Given the description of an element on the screen output the (x, y) to click on. 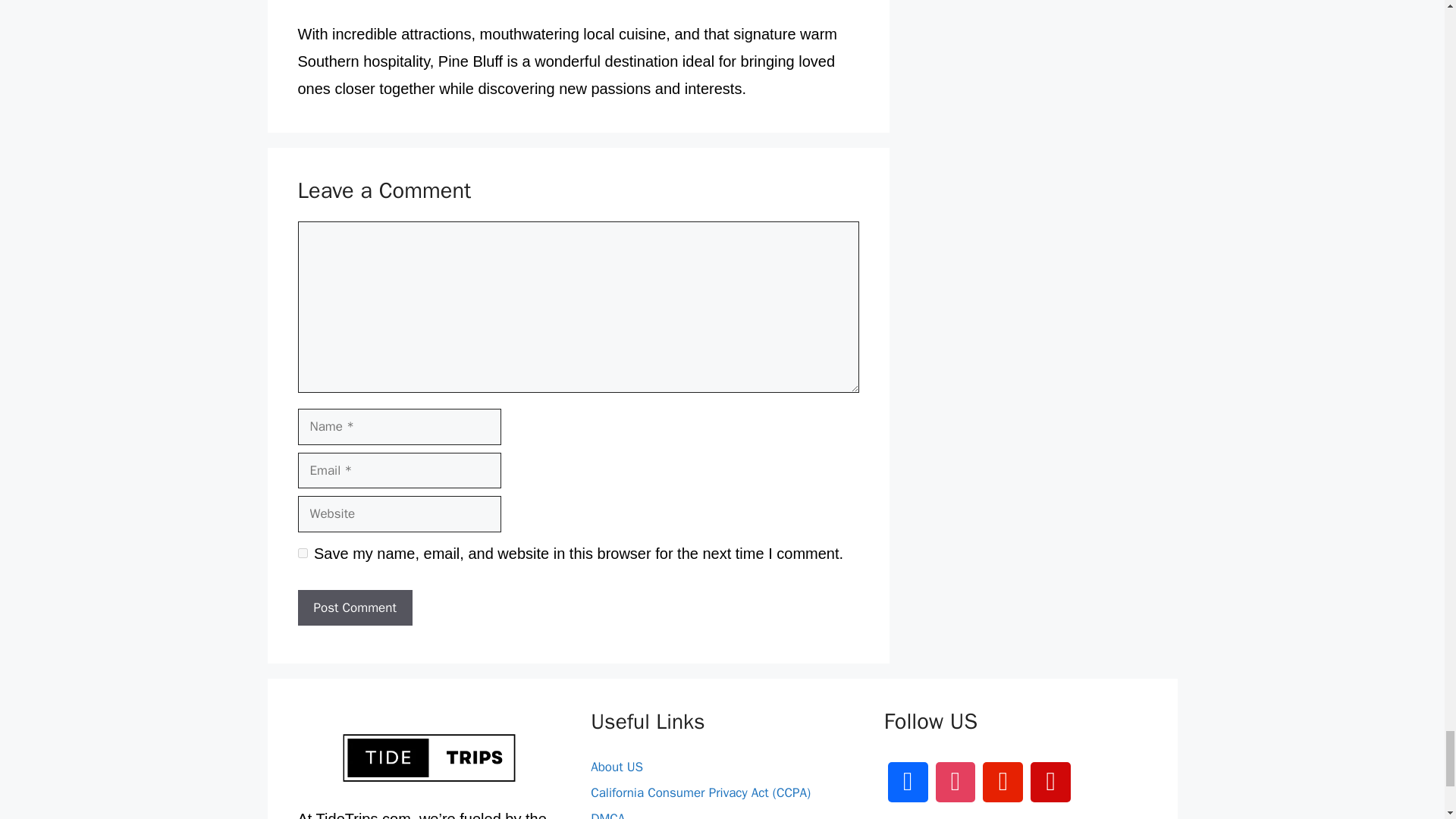
Post Comment (354, 607)
yes (302, 552)
